Given the description of an element on the screen output the (x, y) to click on. 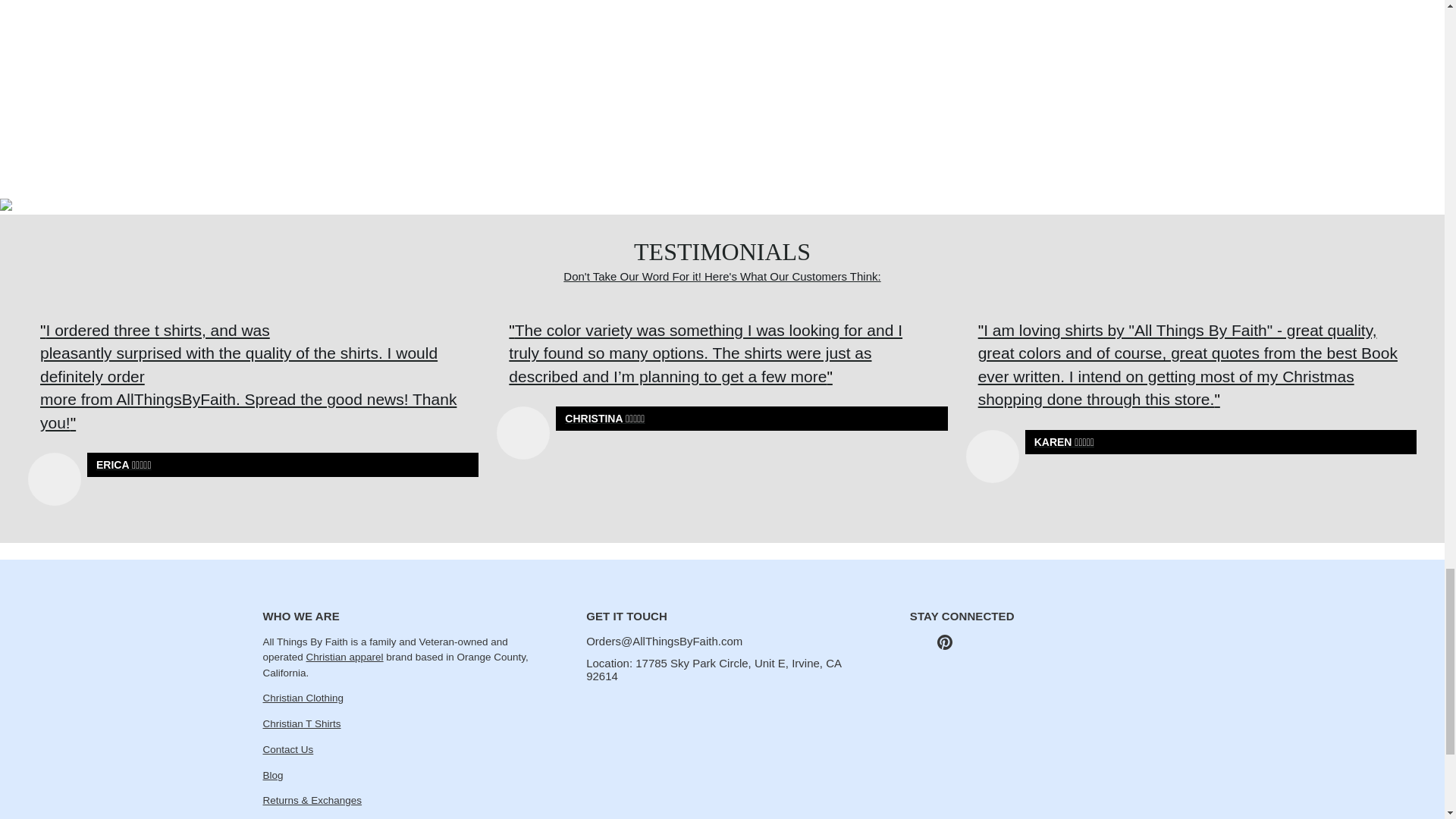
Christian T Shirts (301, 723)
Christian apparel (344, 656)
Contact (287, 749)
